Given the description of an element on the screen output the (x, y) to click on. 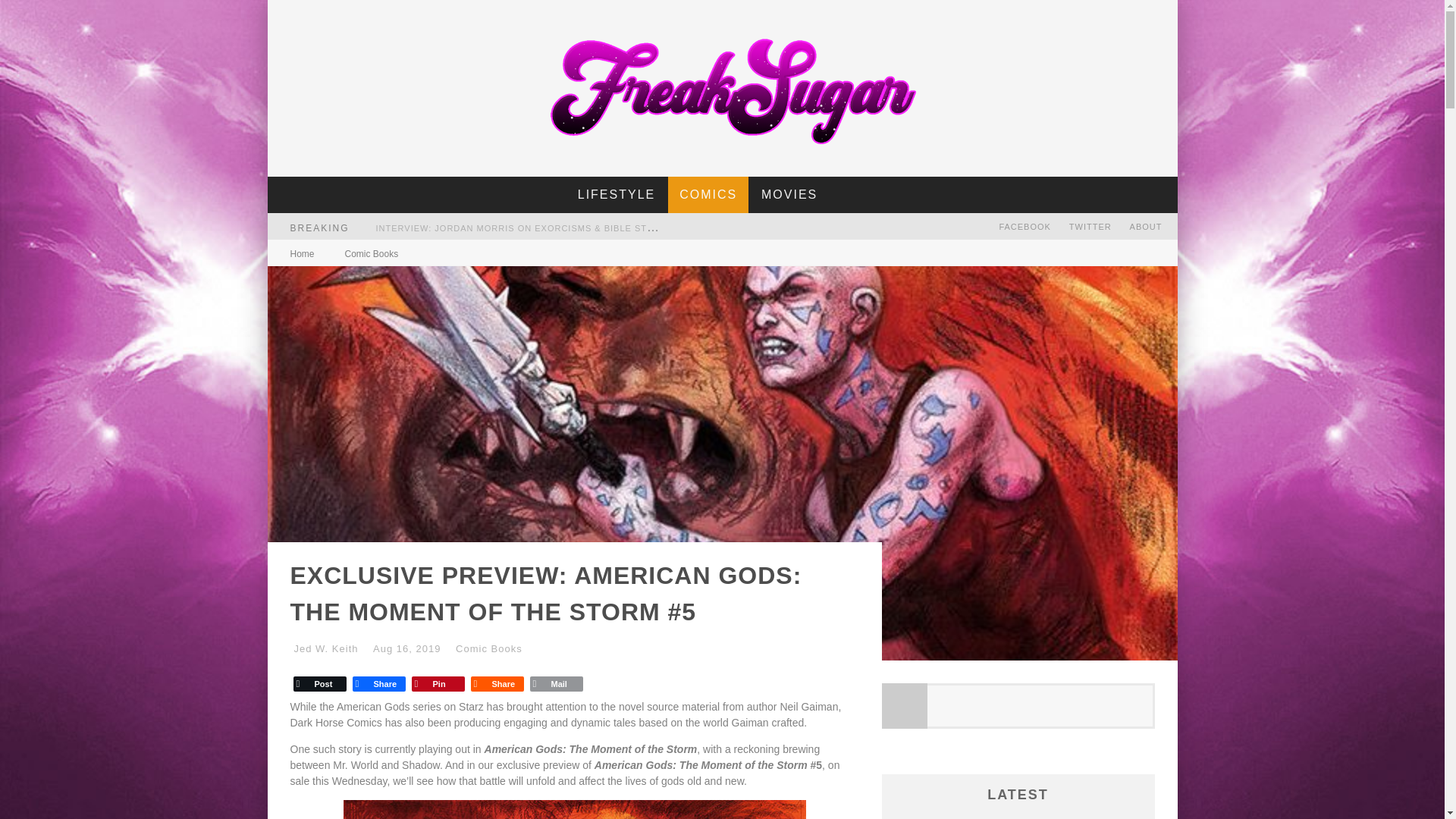
Featured (708, 194)
LIFESTYLE (616, 194)
COMICS (708, 194)
